Given the description of an element on the screen output the (x, y) to click on. 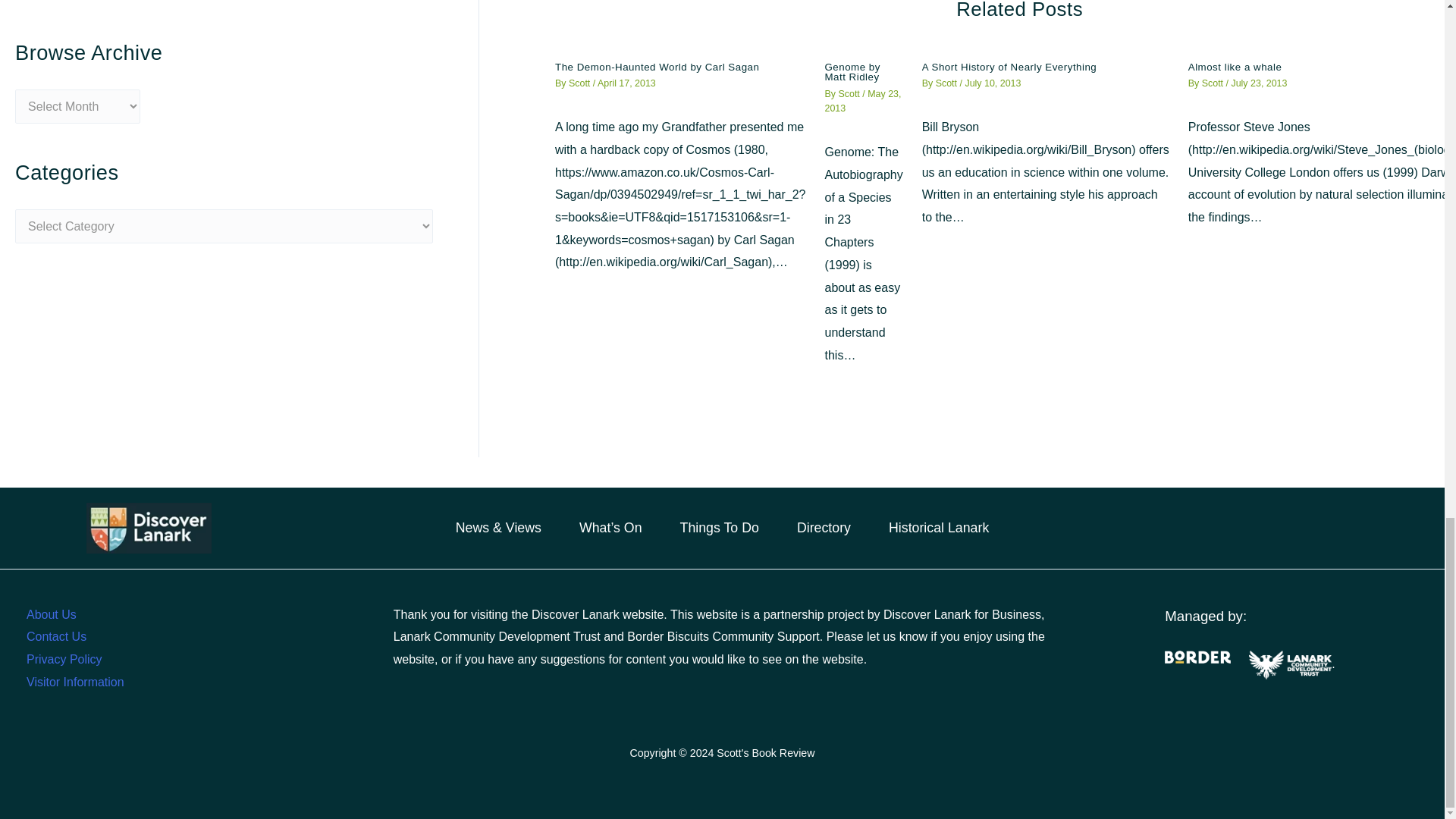
Genome by Matt Ridley (852, 71)
The Demon-Haunted World by Carl Sagan (656, 66)
View all posts by Scott (580, 82)
Scott (580, 82)
View all posts by Scott (947, 82)
Scott (849, 93)
View all posts by Scott (1213, 82)
View all posts by Scott (849, 93)
